Given the description of an element on the screen output the (x, y) to click on. 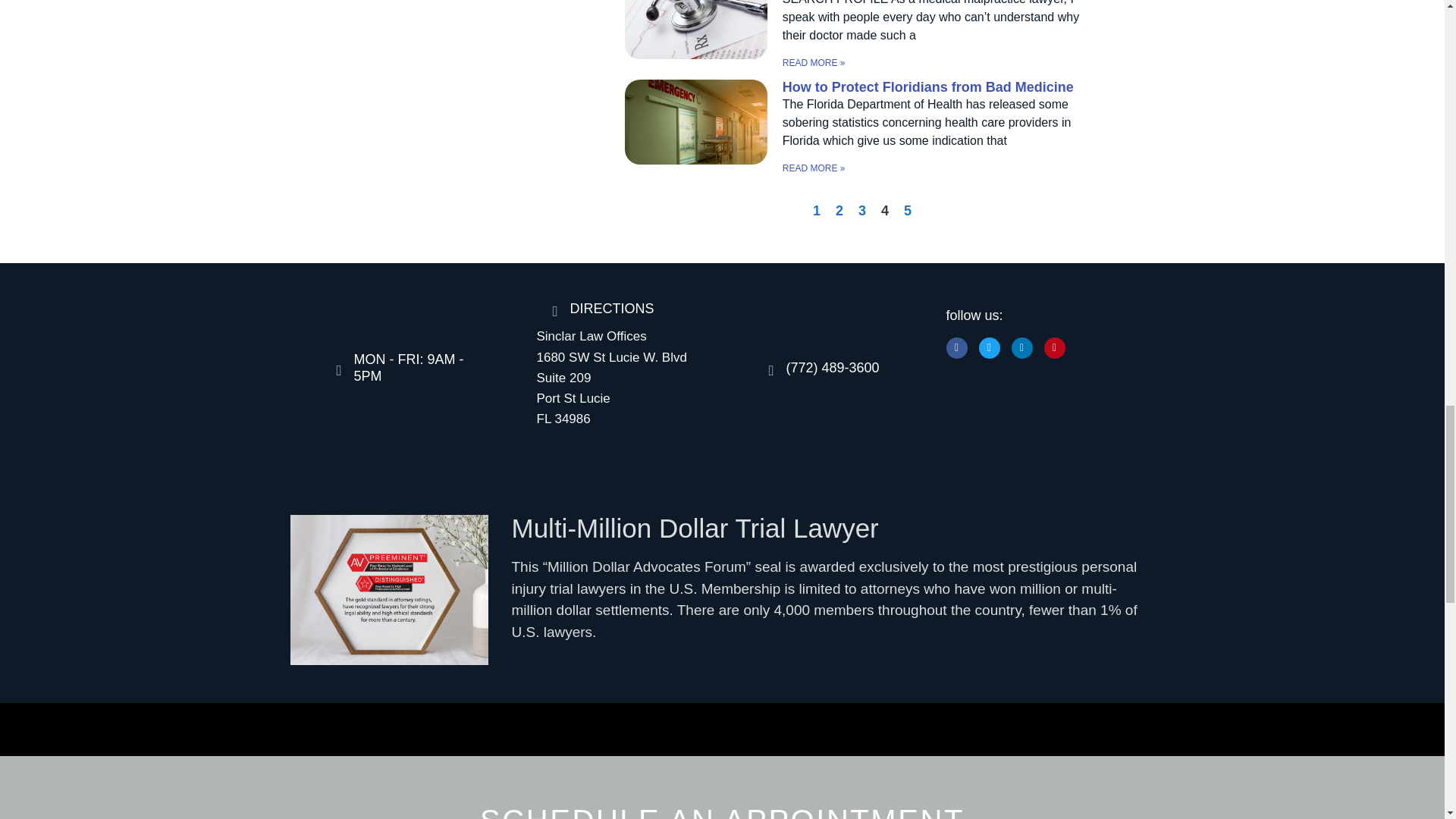
How to Protect Floridians from Bad Medicine (928, 87)
